Given the description of an element on the screen output the (x, y) to click on. 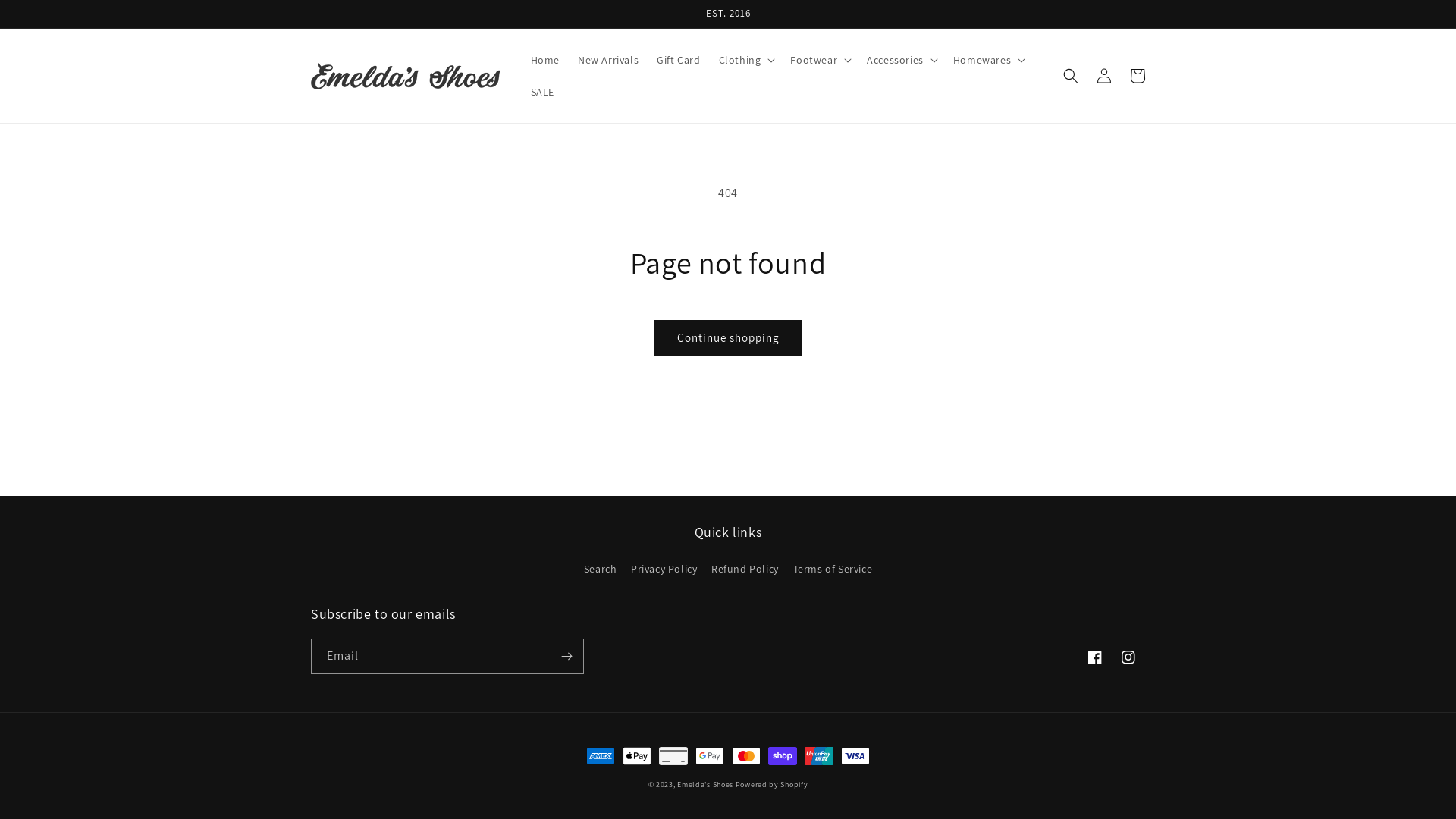
Terms of Service Element type: text (832, 568)
Log in Element type: text (1103, 75)
Home Element type: text (544, 59)
Gift Card Element type: text (678, 59)
New Arrivals Element type: text (607, 59)
Instagram Element type: text (1128, 657)
Privacy Policy Element type: text (663, 568)
Powered by Shopify Element type: text (771, 784)
Refund Policy Element type: text (744, 568)
Facebook Element type: text (1094, 657)
Emelda's Shoes Element type: text (705, 784)
SALE Element type: text (542, 91)
Search Element type: text (600, 570)
Cart Element type: text (1137, 75)
Continue shopping Element type: text (727, 337)
